Given the description of an element on the screen output the (x, y) to click on. 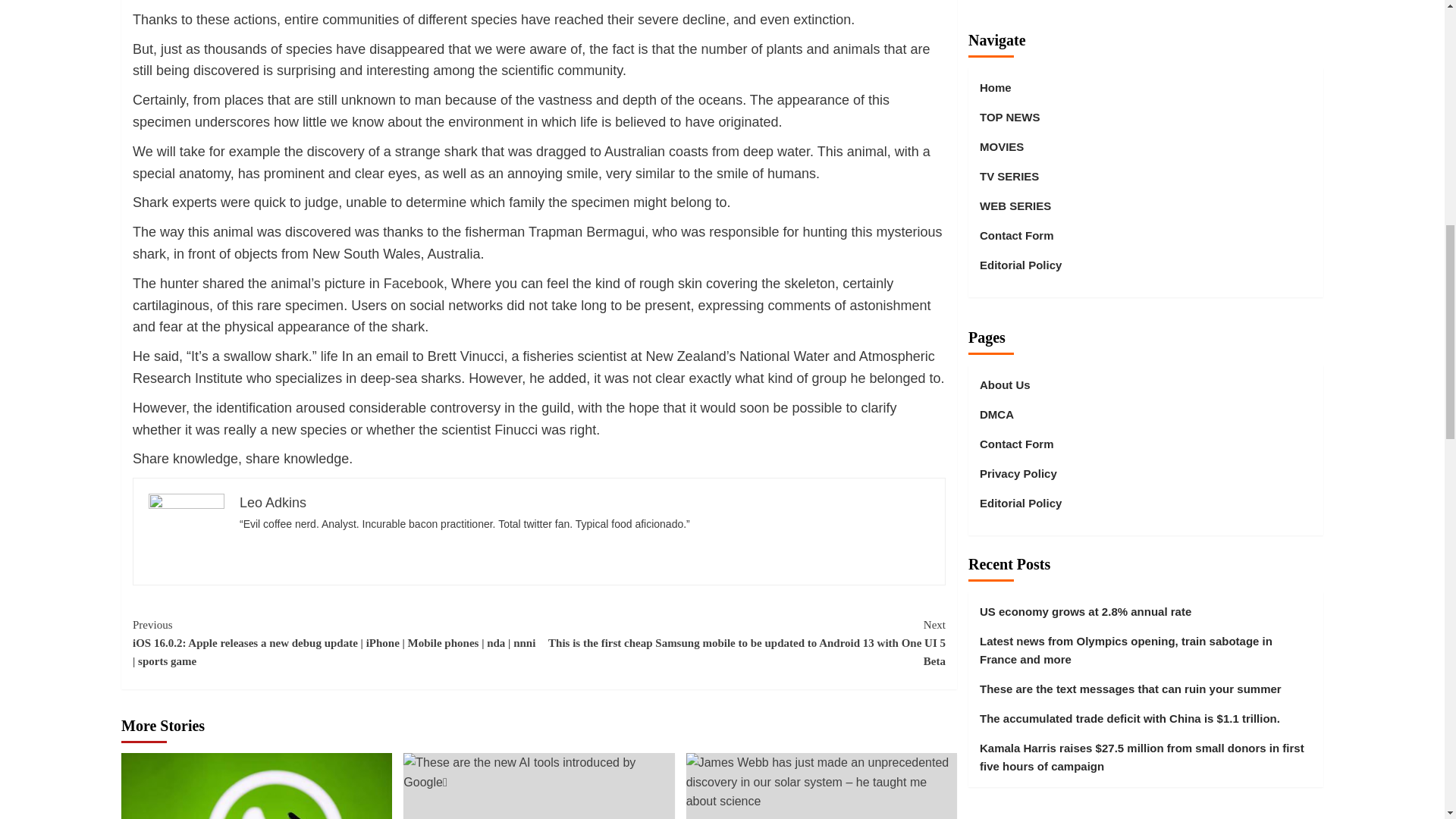
life (328, 355)
Facebook, (415, 283)
Leo Adkins (272, 502)
